Given the description of an element on the screen output the (x, y) to click on. 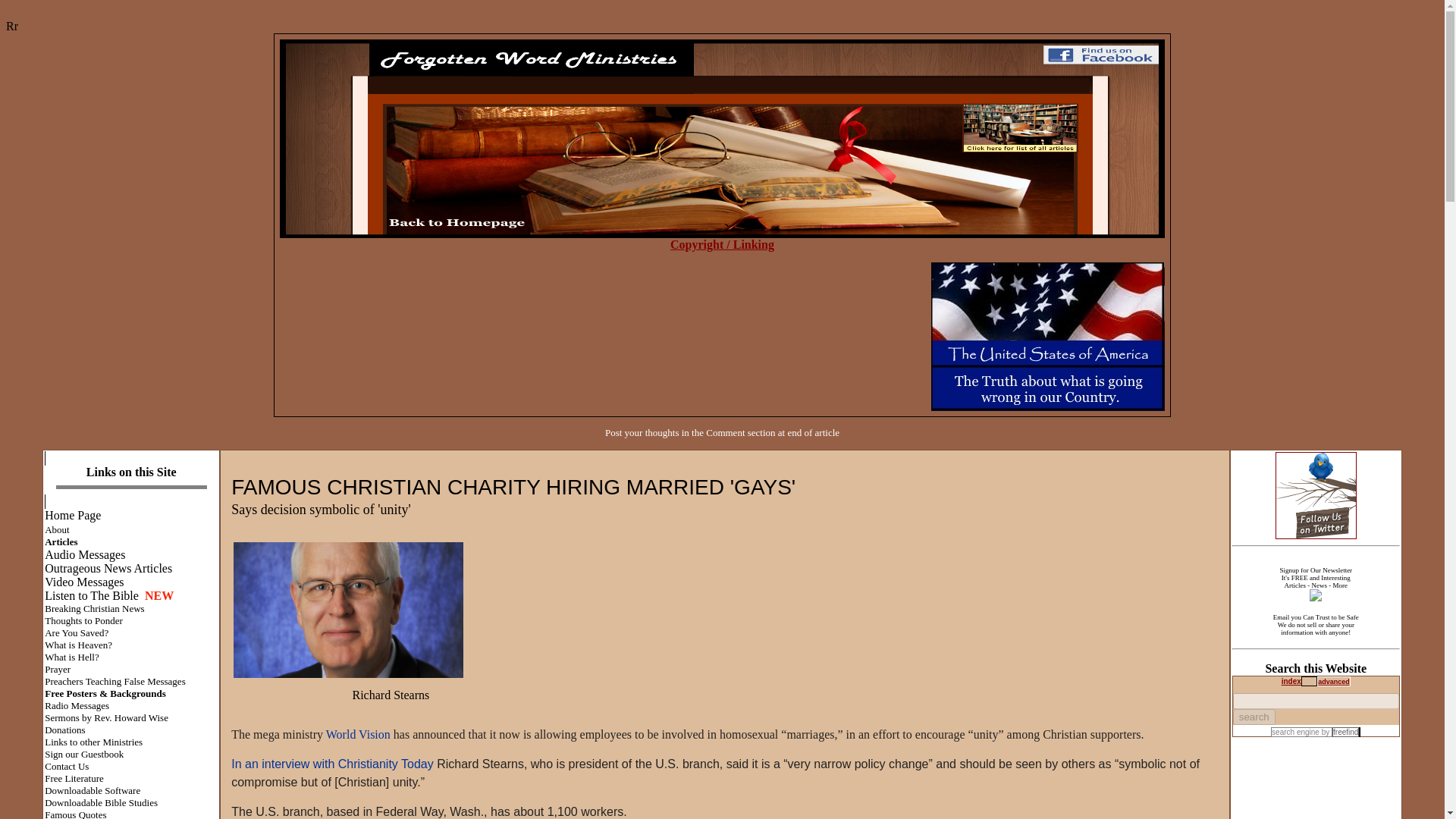
Famous Quotes (75, 813)
What is Heaven? (78, 644)
Preachers Teaching False Messages (115, 680)
Listen to The Bible (91, 594)
World Vision (358, 734)
Downloadable Bible Studies (101, 801)
Thoughts to Ponder (83, 619)
Breaking Christian News (94, 608)
Messages (98, 581)
Are You Saved? (76, 631)
Contact Us (66, 765)
Free Literature (74, 777)
Donations (64, 728)
Sign our Guestbook (84, 753)
search (1254, 716)
